Given the description of an element on the screen output the (x, y) to click on. 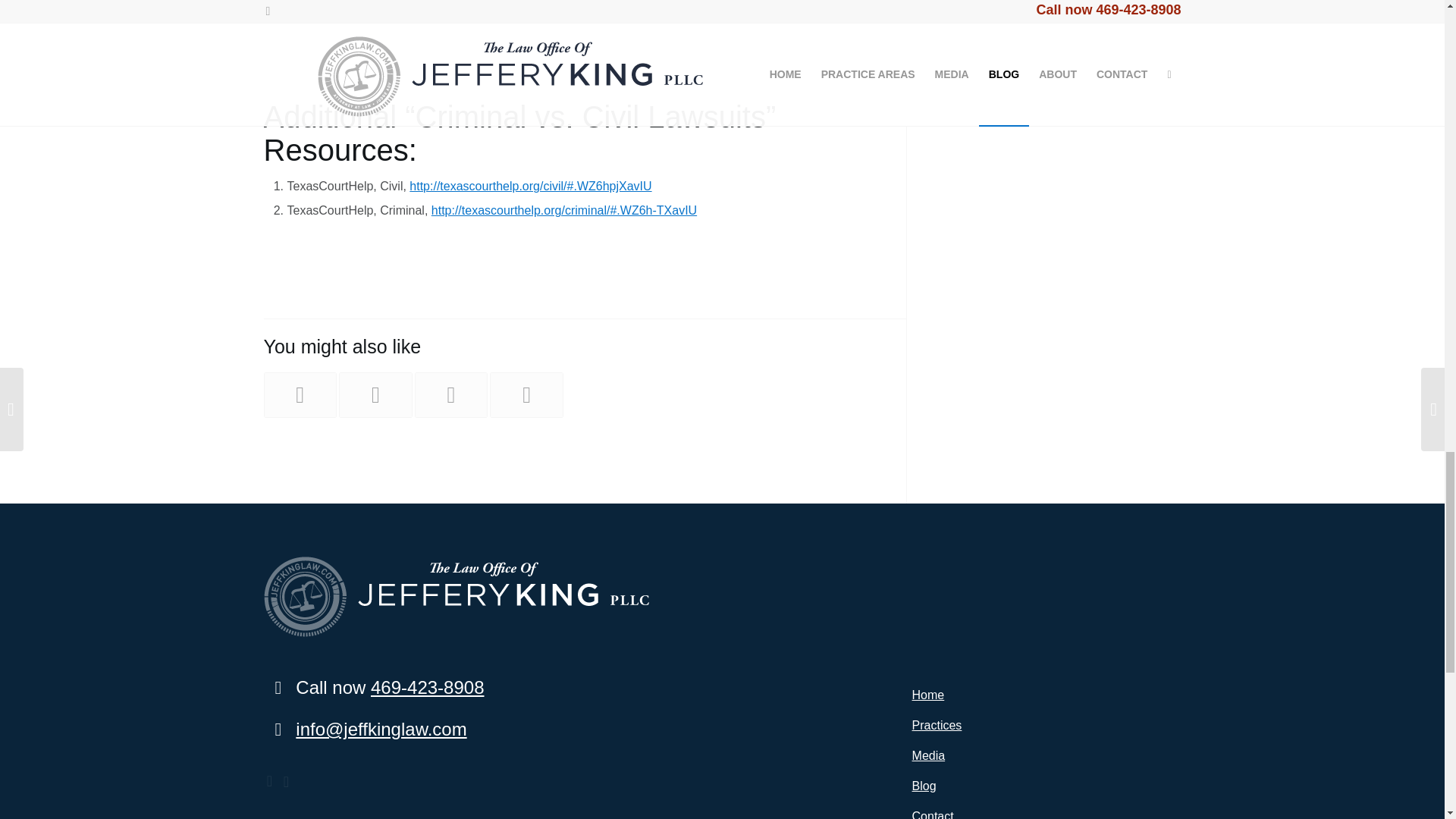
Supreme Court Ruling Gives Prosecutors More Leverage (526, 394)
Can Police Take Your DNA Without Consent in Texas? (375, 394)
jeffkinglaw-white-logo (456, 596)
